Given the description of an element on the screen output the (x, y) to click on. 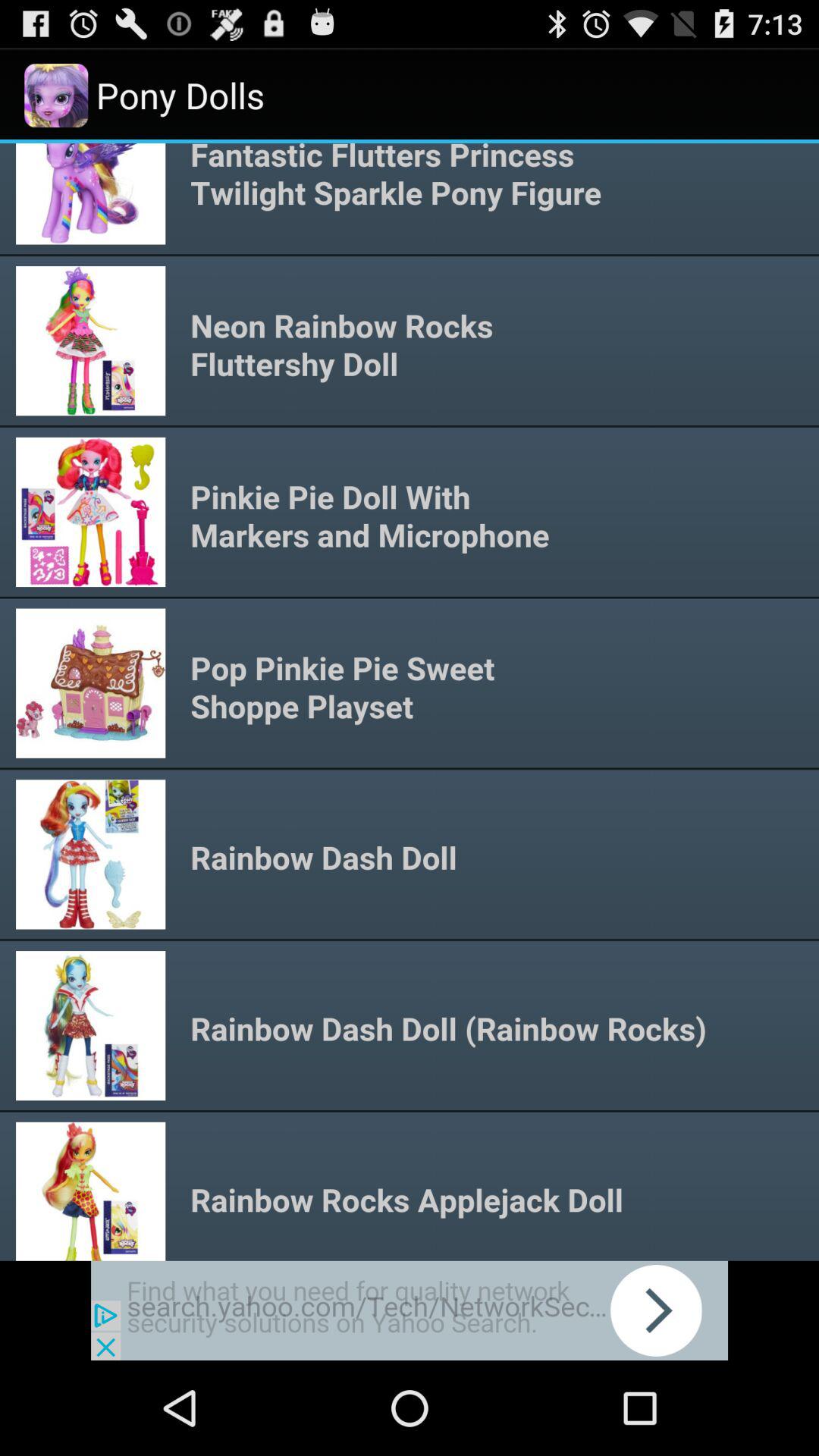
favorited (409, 1310)
